Given the description of an element on the screen output the (x, y) to click on. 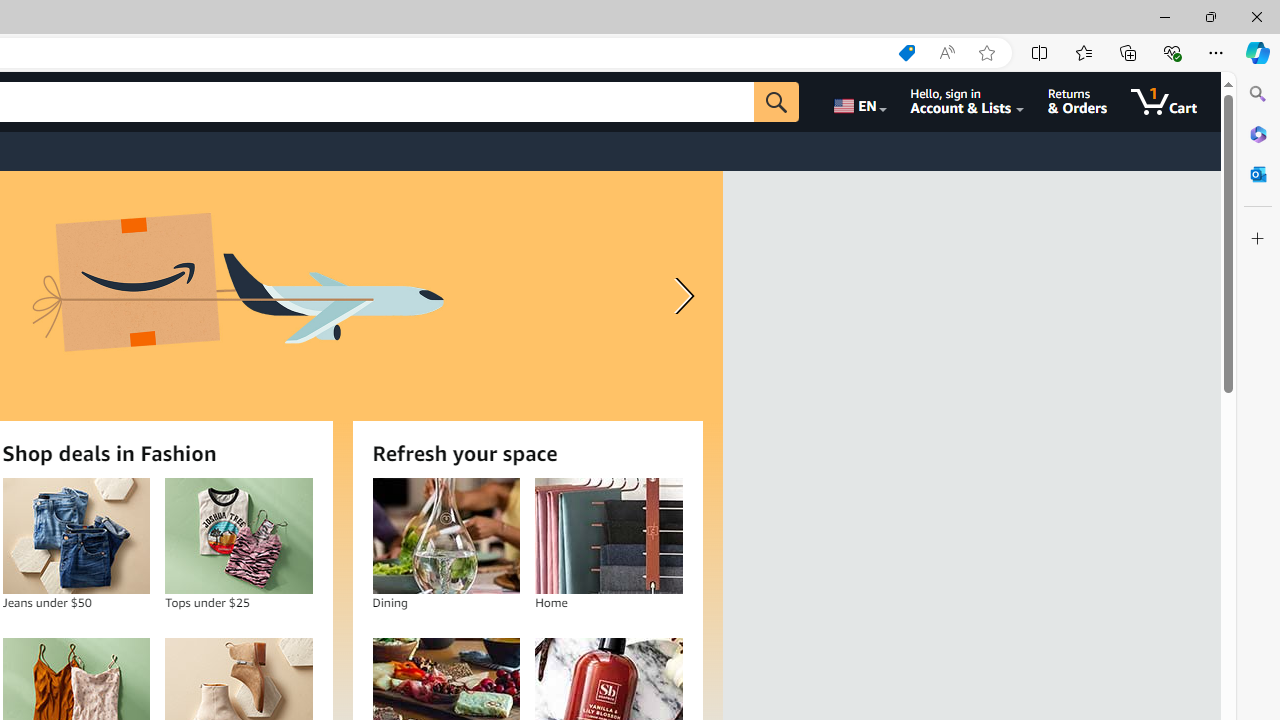
Returns & Orders (1077, 101)
Jeans under $50 (75, 536)
Tops under $25 (238, 536)
Next slide (680, 296)
Hello, sign in Account & Lists (967, 101)
Dining (445, 536)
Choose a language for shopping. (858, 101)
